Given the description of an element on the screen output the (x, y) to click on. 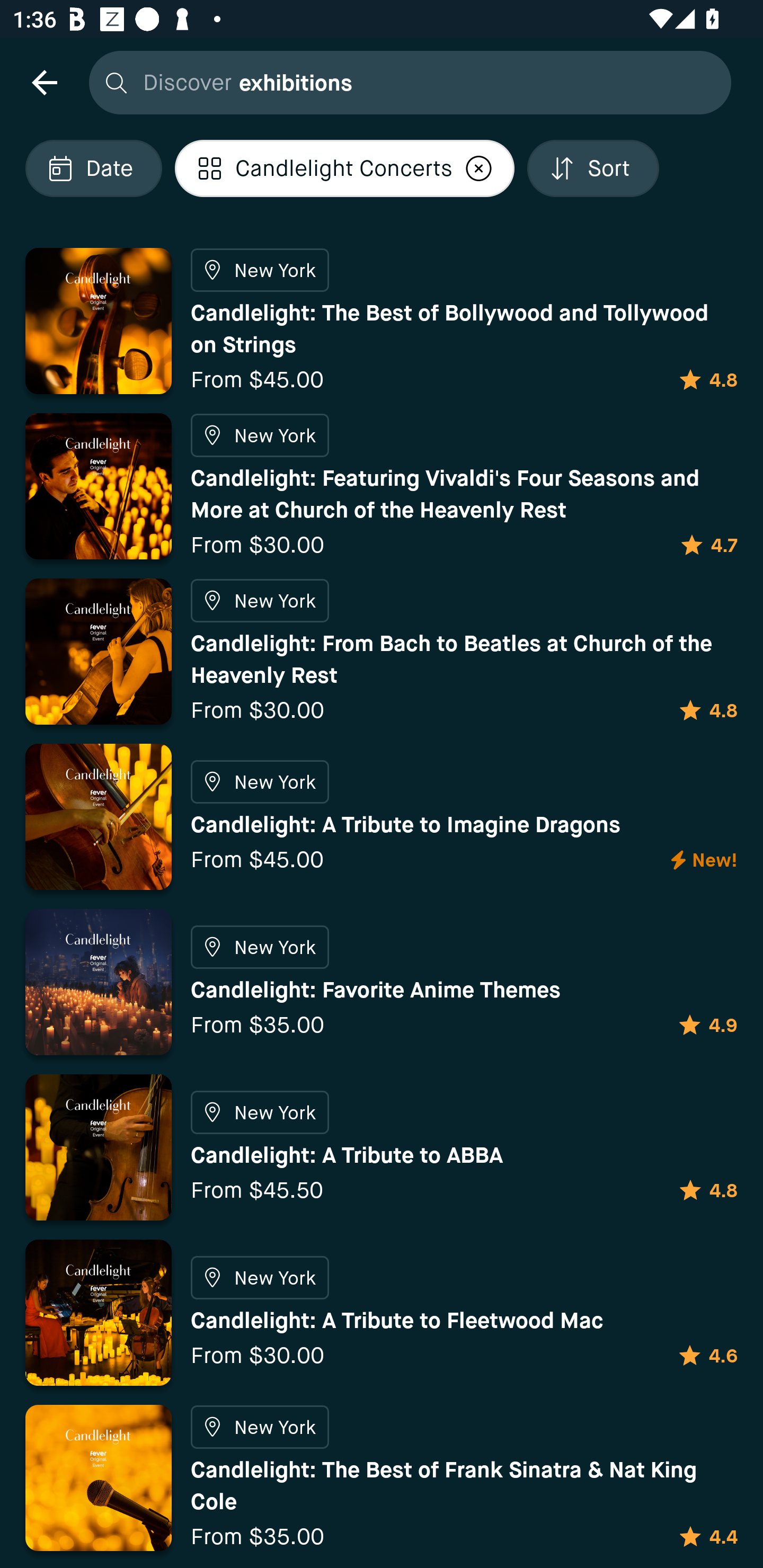
navigation icon (44, 81)
Discover exhibitions (405, 81)
Localized description Date (93, 168)
Localized description (479, 168)
Localized description Sort (593, 168)
